Given the description of an element on the screen output the (x, y) to click on. 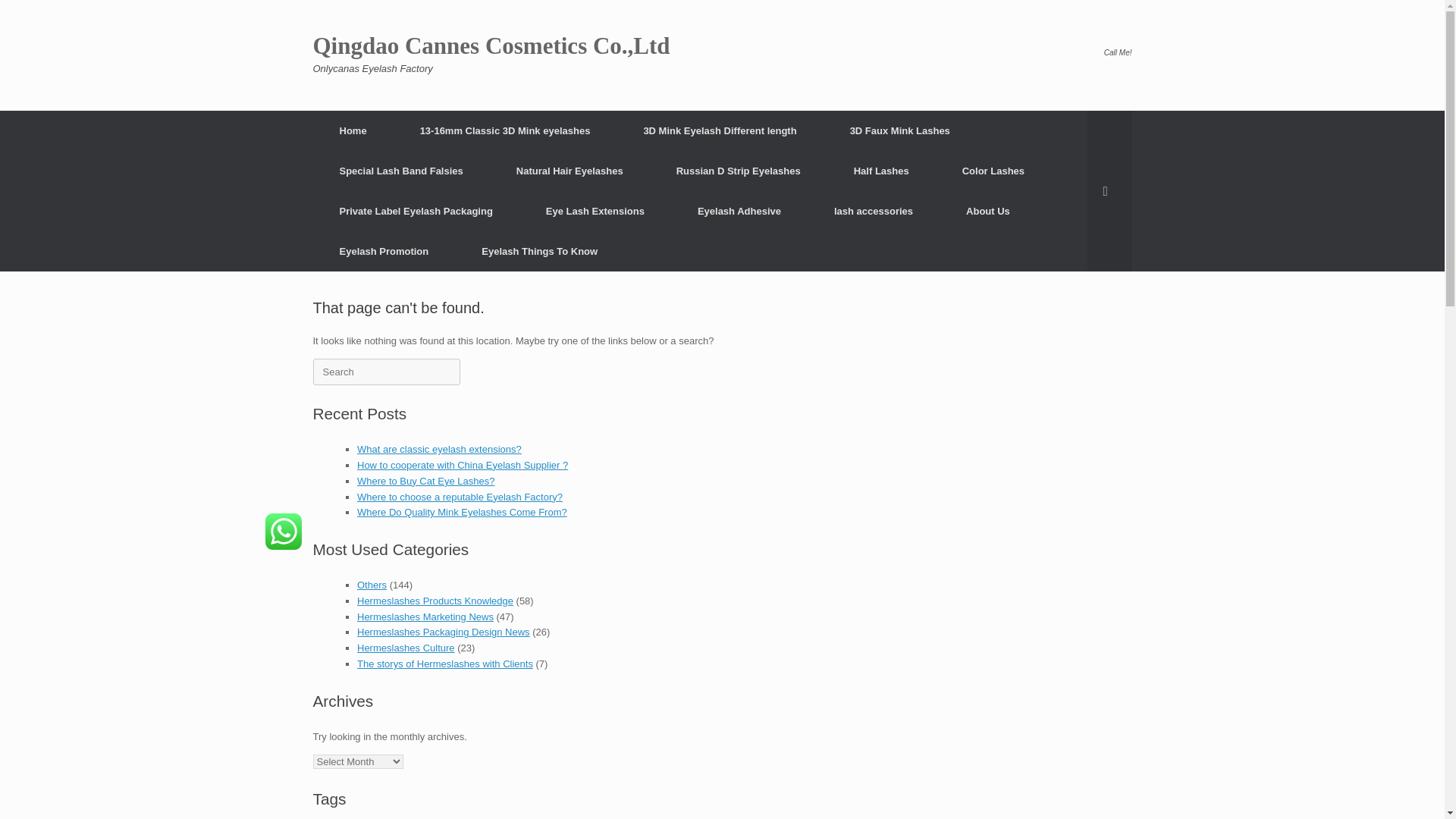
Half Lashes (881, 169)
Home (353, 130)
Special Lash Band Falsies (401, 169)
Eye Lash Extensions (595, 210)
13-16mm Classic 3D Mink eyelashes (505, 130)
Qingdao Cannes Cosmetics Co.,Ltd (491, 45)
Natural Hair Eyelashes (569, 169)
Color Lashes (993, 169)
lash accessories (873, 210)
Qingdao Cannes Cosmetics Co.,Ltd (491, 45)
